Given the description of an element on the screen output the (x, y) to click on. 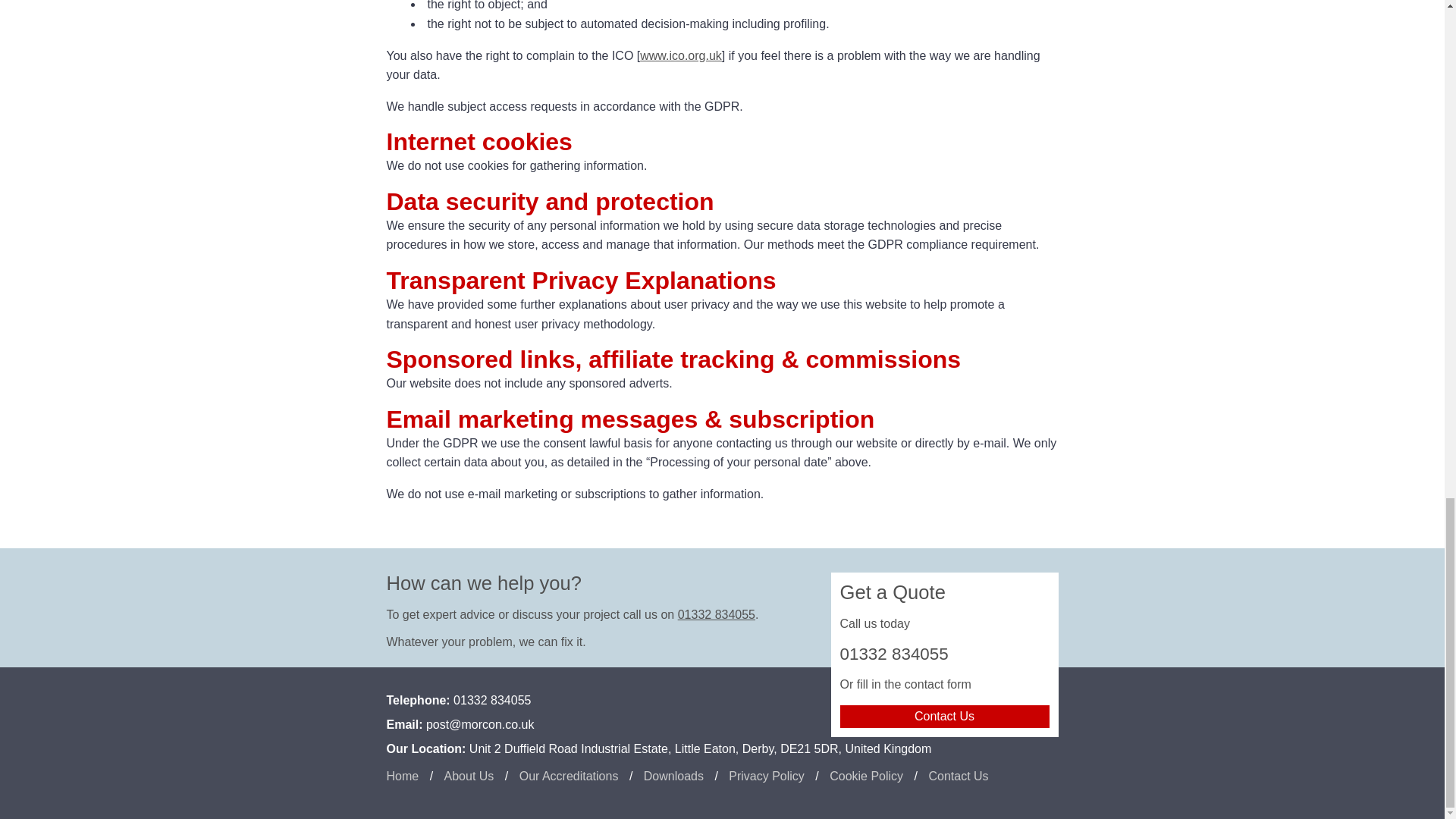
01332 834055 (716, 614)
Downloads (673, 776)
Cookie Policy (865, 776)
www.ico.org.uk (681, 55)
Our Accreditations (568, 776)
About Us (469, 776)
Home (403, 776)
Privacy Policy (767, 776)
Contact Us (958, 776)
Contact Us (944, 716)
